Given the description of an element on the screen output the (x, y) to click on. 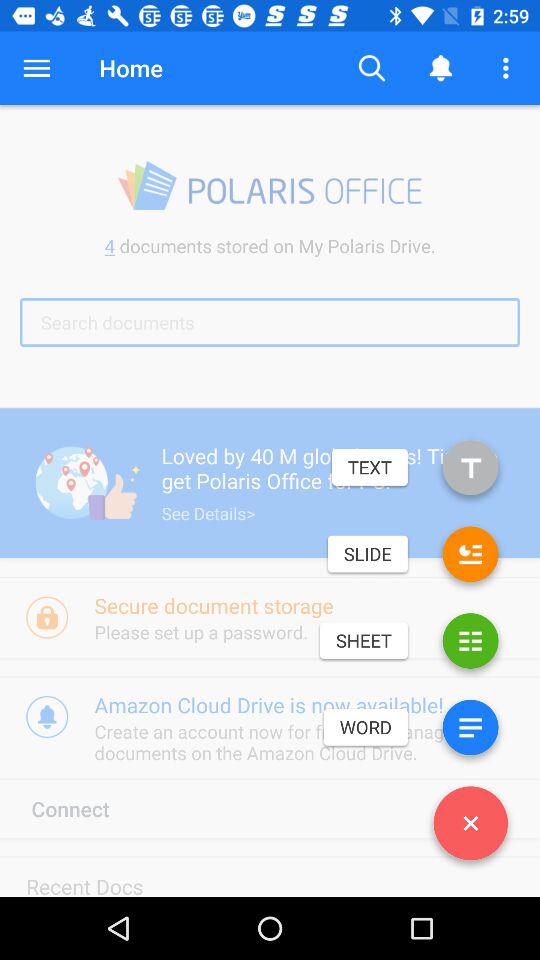
select sheet (470, 644)
